Given the description of an element on the screen output the (x, y) to click on. 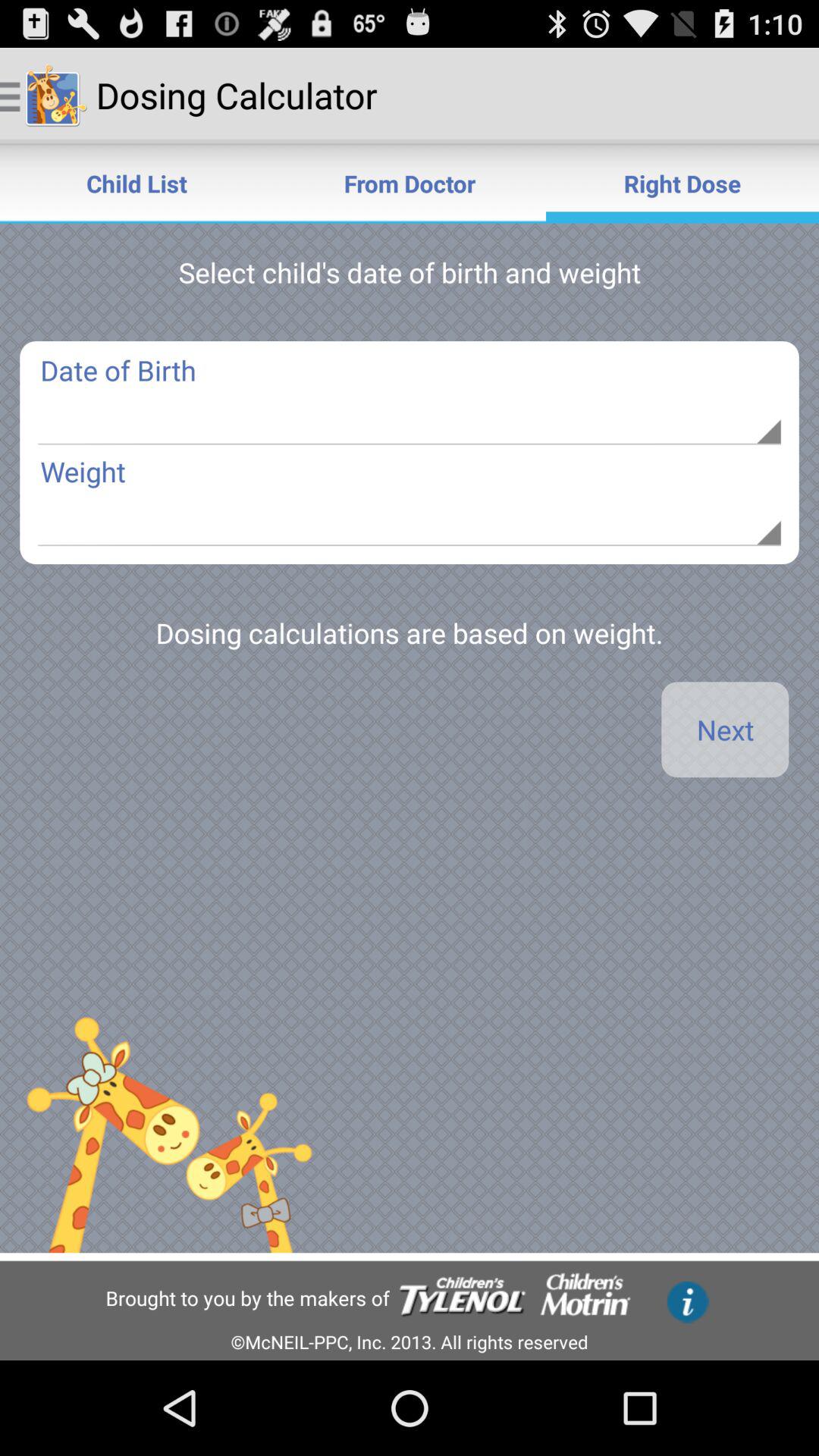
launch the item next to child list icon (409, 183)
